Given the description of an element on the screen output the (x, y) to click on. 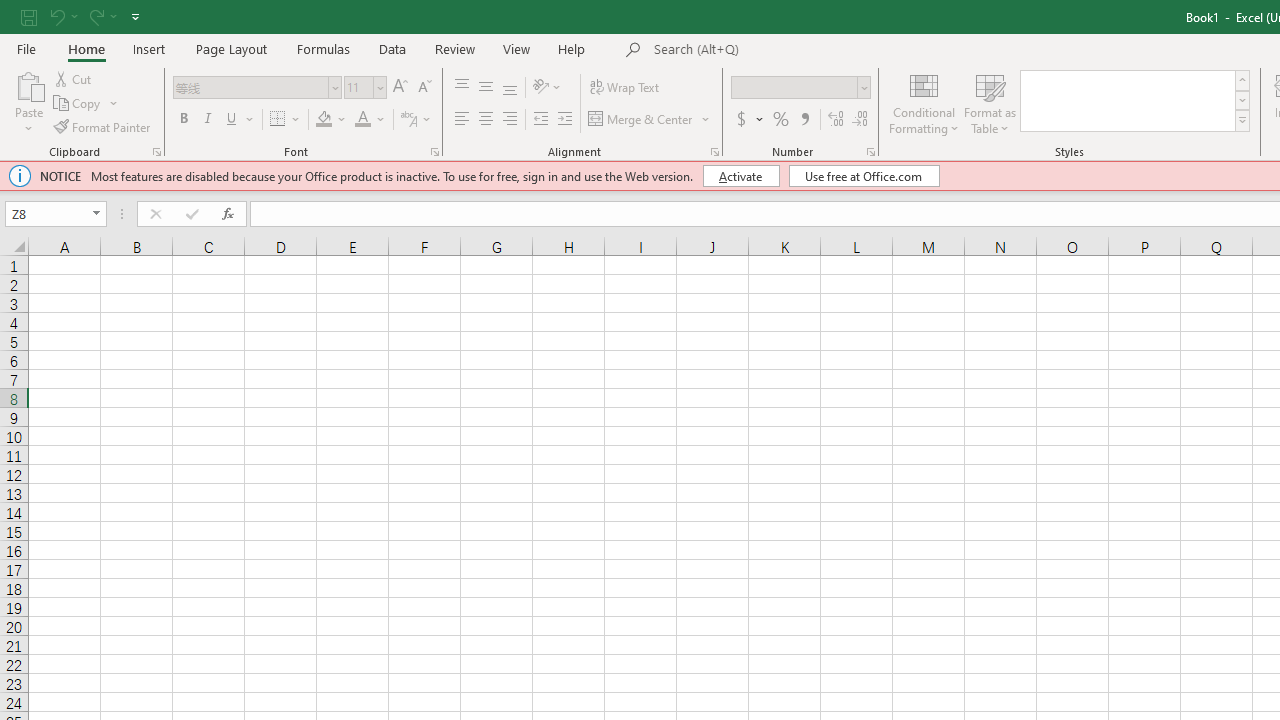
Bottom Align (509, 87)
Cell Styles (1242, 120)
Use free at Office.com (863, 175)
Format Painter (103, 126)
Format Cell Font (434, 151)
Format Cell Number (870, 151)
Percent Style (781, 119)
Middle Align (485, 87)
Italic (207, 119)
